Given the description of an element on the screen output the (x, y) to click on. 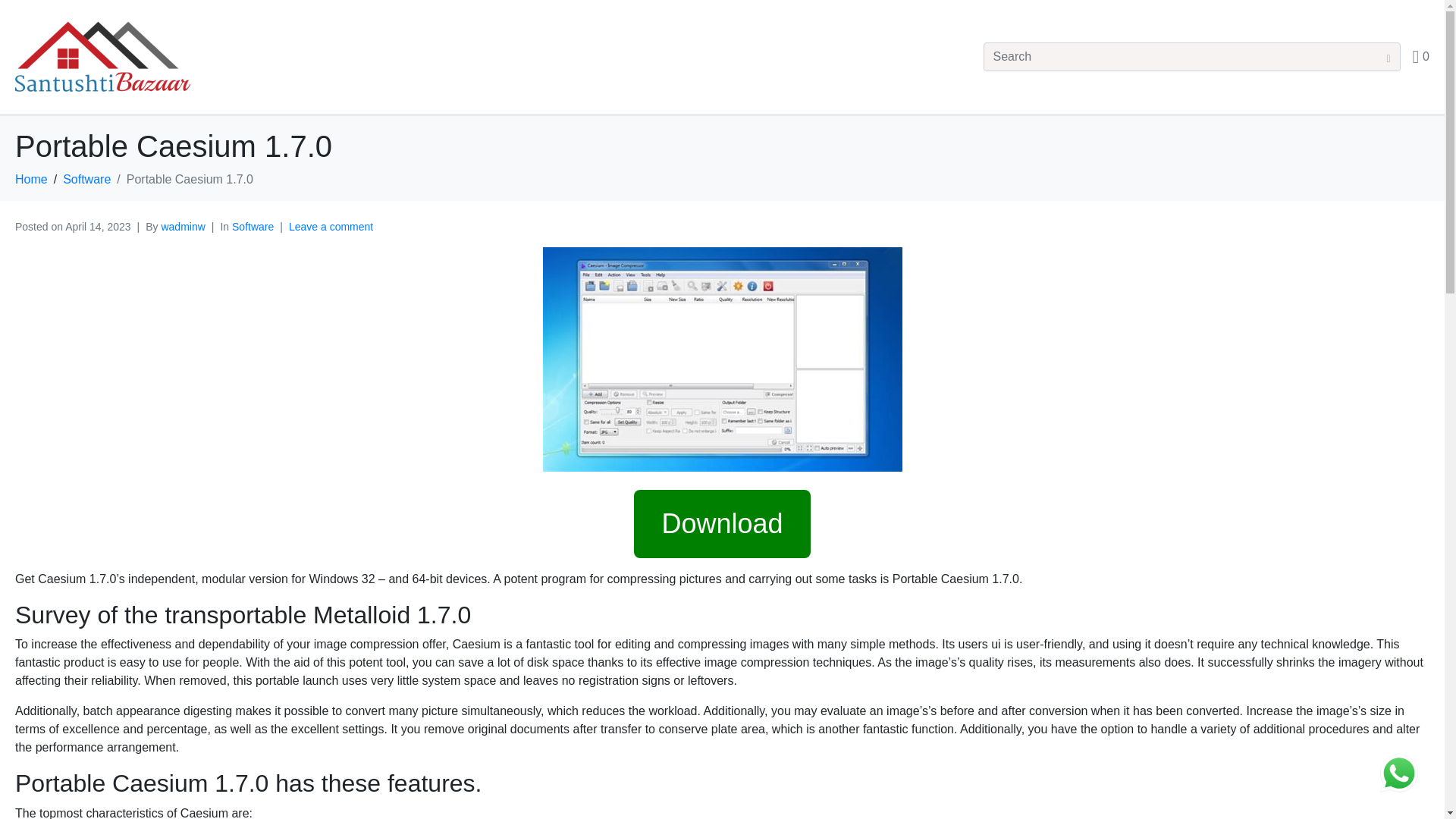
Download (721, 528)
0 (1420, 56)
Home (31, 178)
Download (721, 523)
Software (86, 178)
wadminw (182, 226)
Know More WhatsApp Now (1399, 773)
Leave a comment (330, 226)
Software (252, 226)
